Given the description of an element on the screen output the (x, y) to click on. 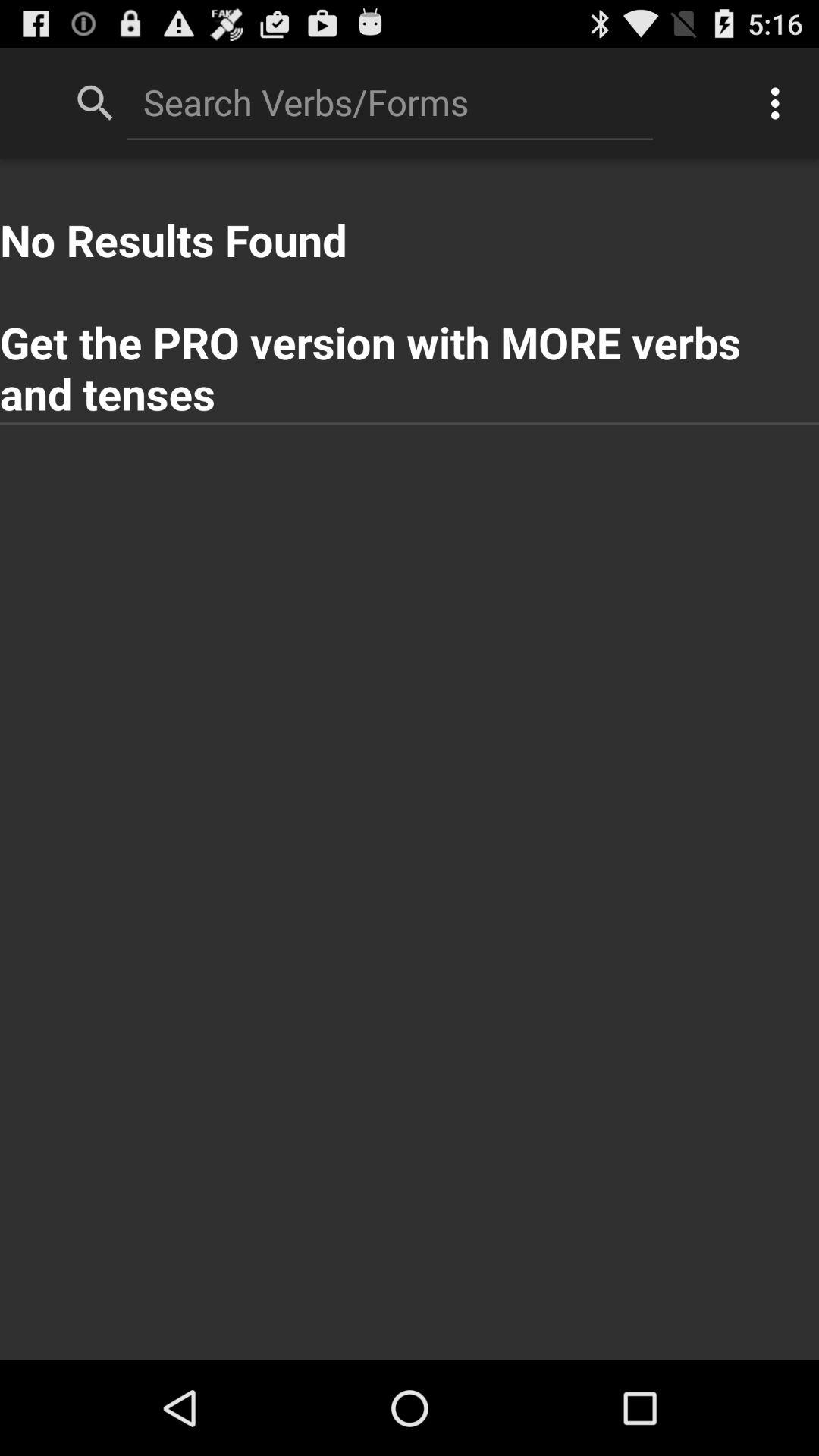
open the no results found app (409, 290)
